Given the description of an element on the screen output the (x, y) to click on. 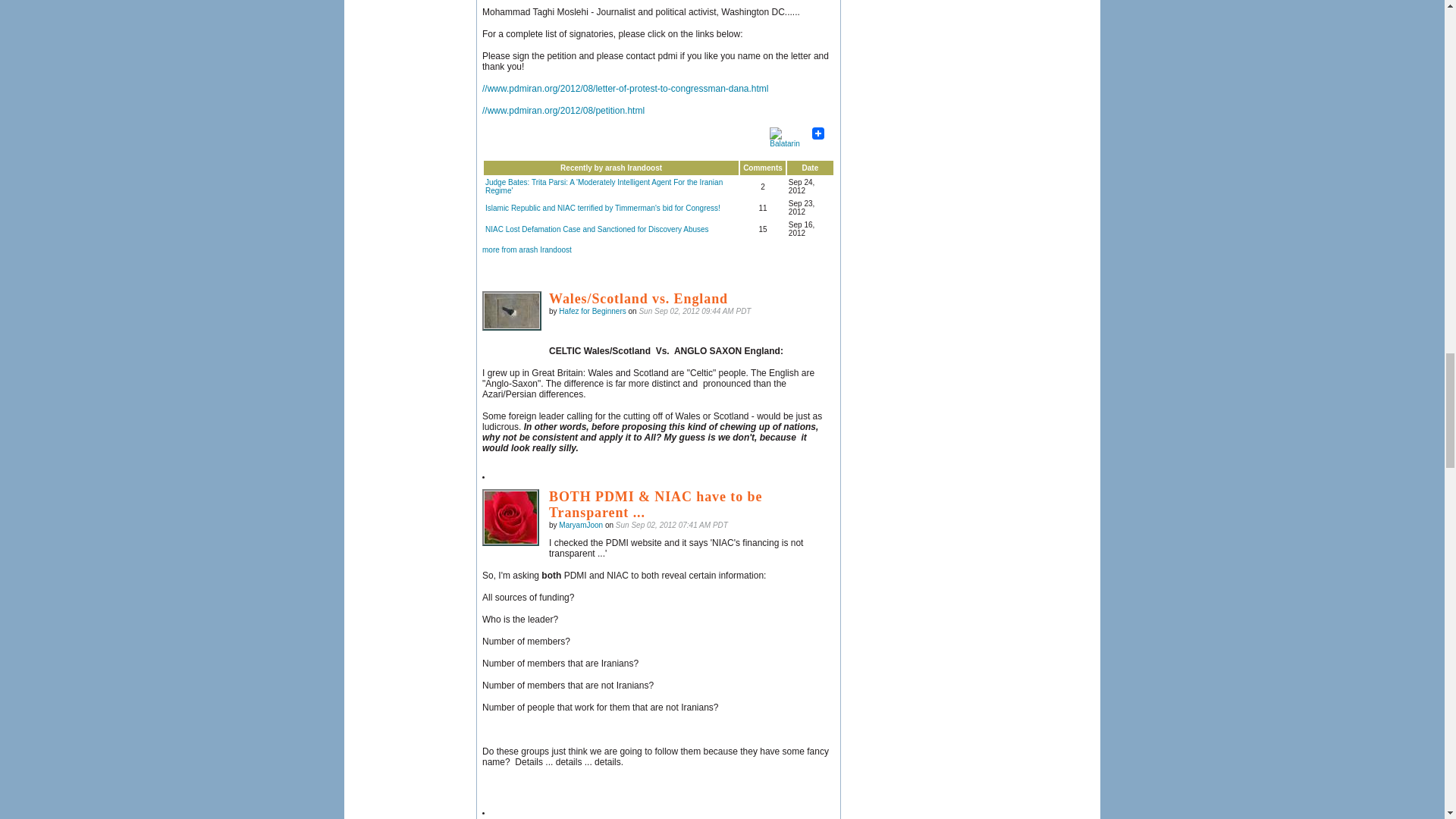
Hafez for Beginners (511, 310)
MaryamJoon (509, 517)
View user profile. (580, 524)
View user profile. (592, 311)
